Given the description of an element on the screen output the (x, y) to click on. 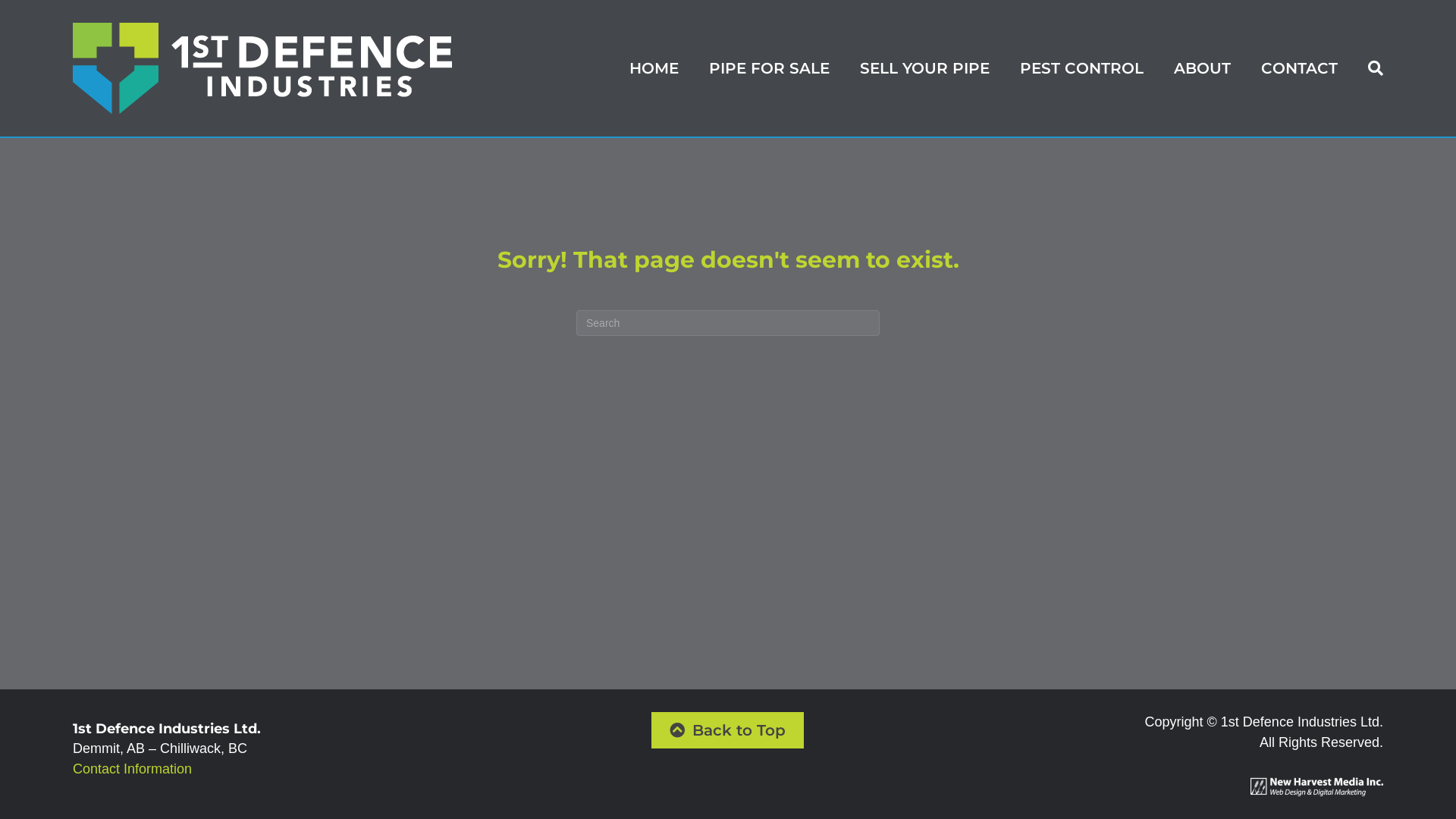
HOME Element type: text (653, 68)
PIPE FOR SALE Element type: text (768, 68)
PEST CONTROL Element type: text (1081, 68)
CONTACT Element type: text (1298, 68)
Type and press Enter to search. Element type: hover (727, 322)
Back to Top Element type: text (727, 730)
SELL YOUR PIPE Element type: text (924, 68)
Contact Information Element type: text (131, 768)
ABOUT Element type: text (1201, 68)
